Given the description of an element on the screen output the (x, y) to click on. 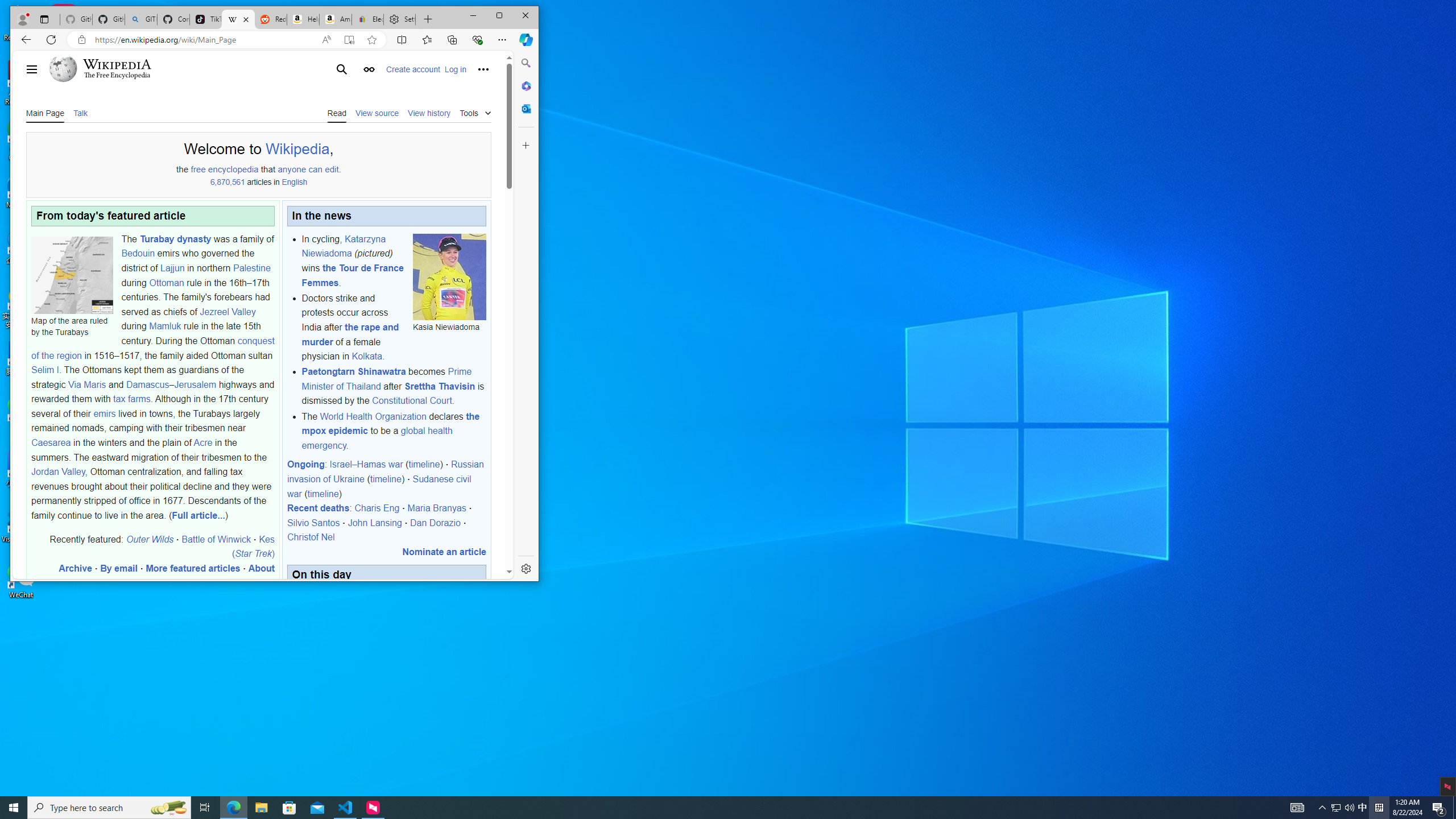
6,870,561 (226, 181)
(timeline) (323, 493)
Microsoft Store (289, 807)
Talk (79, 112)
encyclopedia (233, 169)
Christof Nel (310, 537)
Ongoing (305, 464)
Mamluk (165, 326)
Jerusalem (195, 384)
Talk (79, 111)
Christof Nel (310, 537)
Palestine (251, 267)
